Given the description of an element on the screen output the (x, y) to click on. 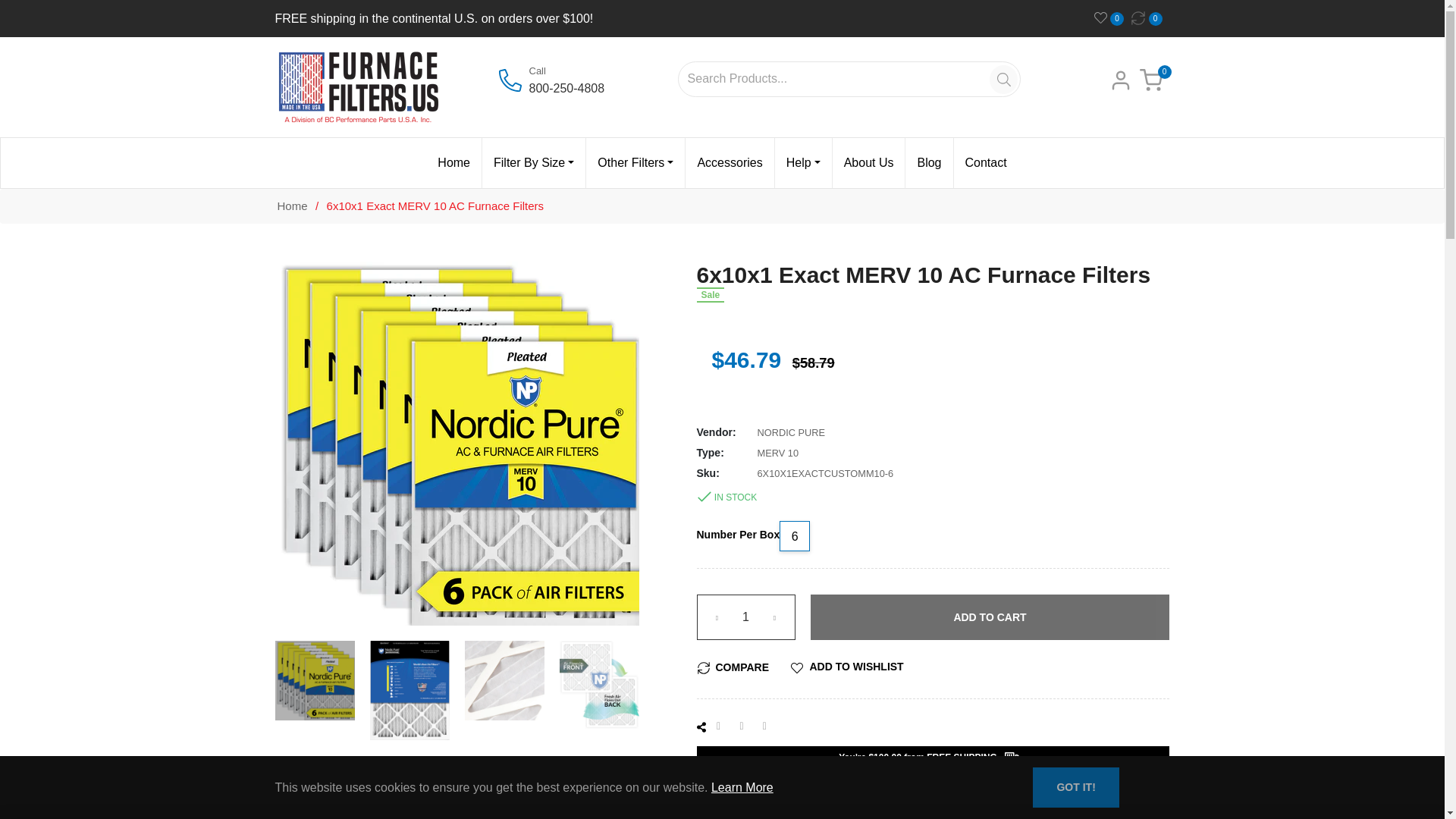
About Us (868, 163)
Accessories (729, 163)
Other Filters (635, 163)
Filter By Size (533, 163)
Help (802, 163)
Compare (1150, 18)
Home (291, 206)
Home (453, 163)
0 (1150, 18)
Home (291, 206)
0 (1112, 18)
Wishlist (1112, 18)
Shopping Cart (1149, 78)
Contact (985, 163)
